Given the description of an element on the screen output the (x, y) to click on. 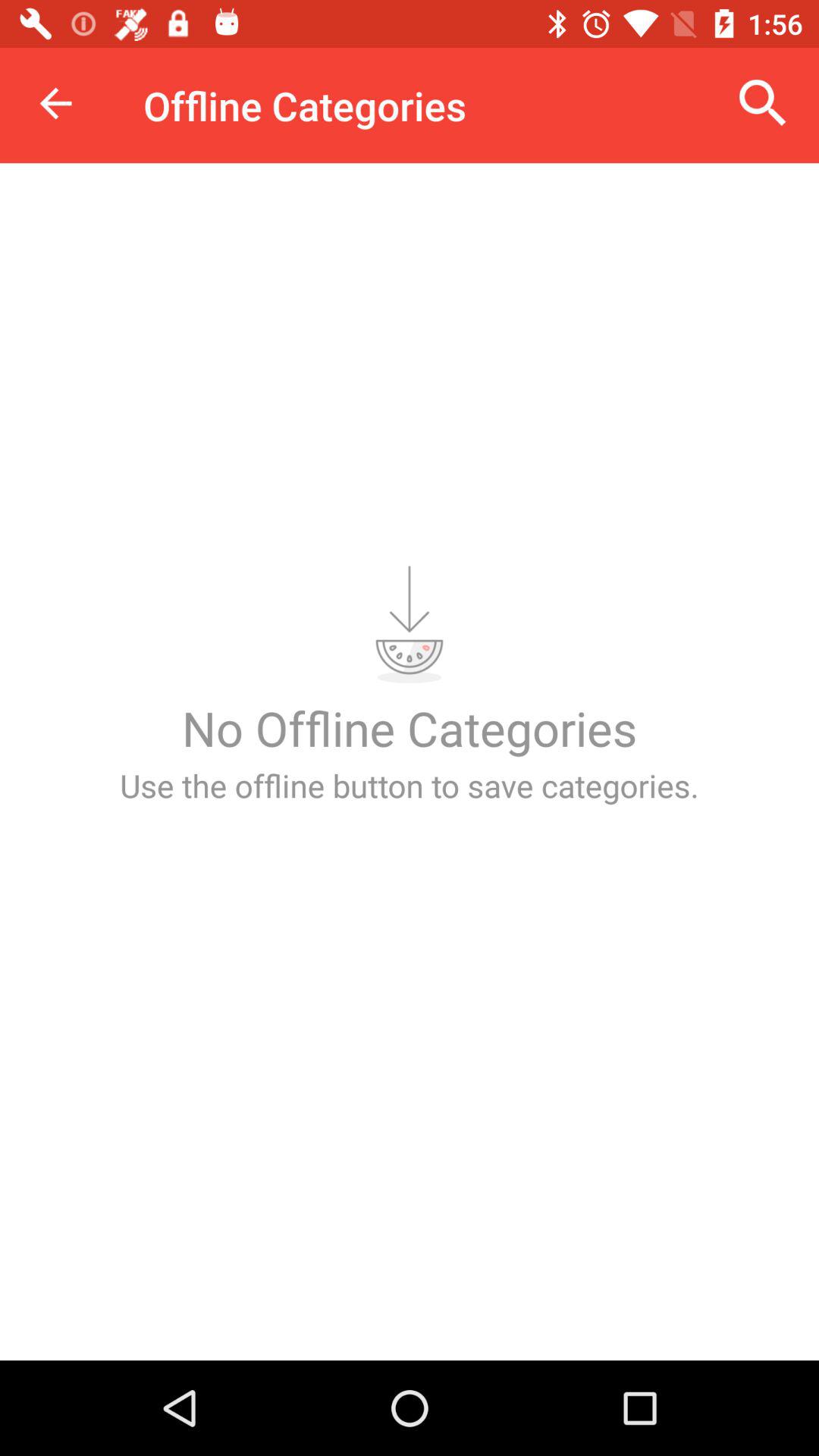
open the item to the left of offline categories item (55, 103)
